Given the description of an element on the screen output the (x, y) to click on. 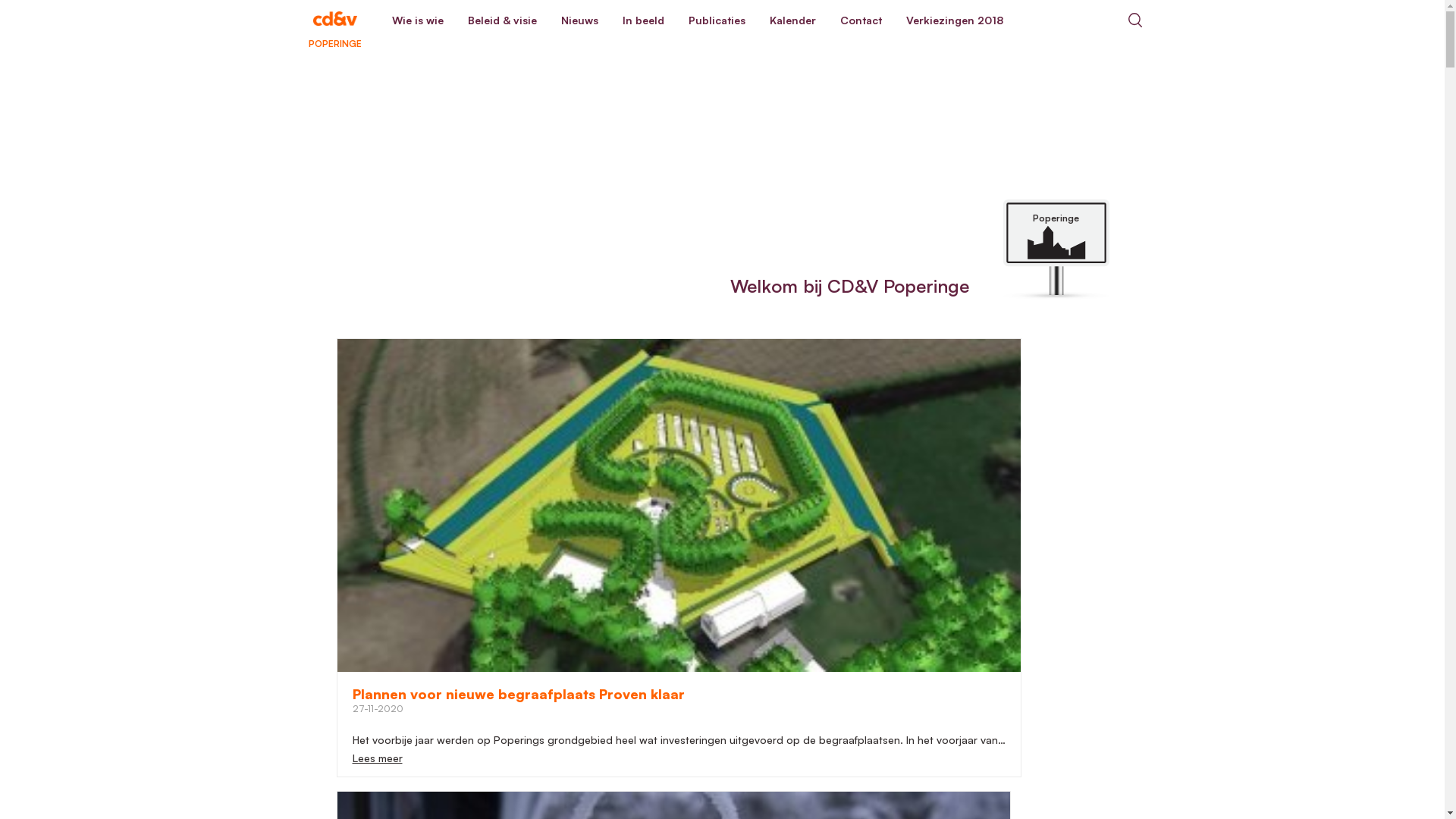
Search Element type: hover (1134, 19)
In beeld Element type: text (642, 20)
Wie is wie Element type: text (417, 20)
Beleid & visie Element type: text (501, 20)
Verkiezingen 2018 Element type: text (953, 20)
Kalender Element type: text (791, 20)
POPERINGE Element type: text (334, 19)
Plannen voor nieuwe begraafplaats Proven klaar Element type: text (517, 693)
Nieuws Element type: text (579, 20)
Publicaties Element type: text (716, 20)
Contact Element type: text (861, 20)
